Given the description of an element on the screen output the (x, y) to click on. 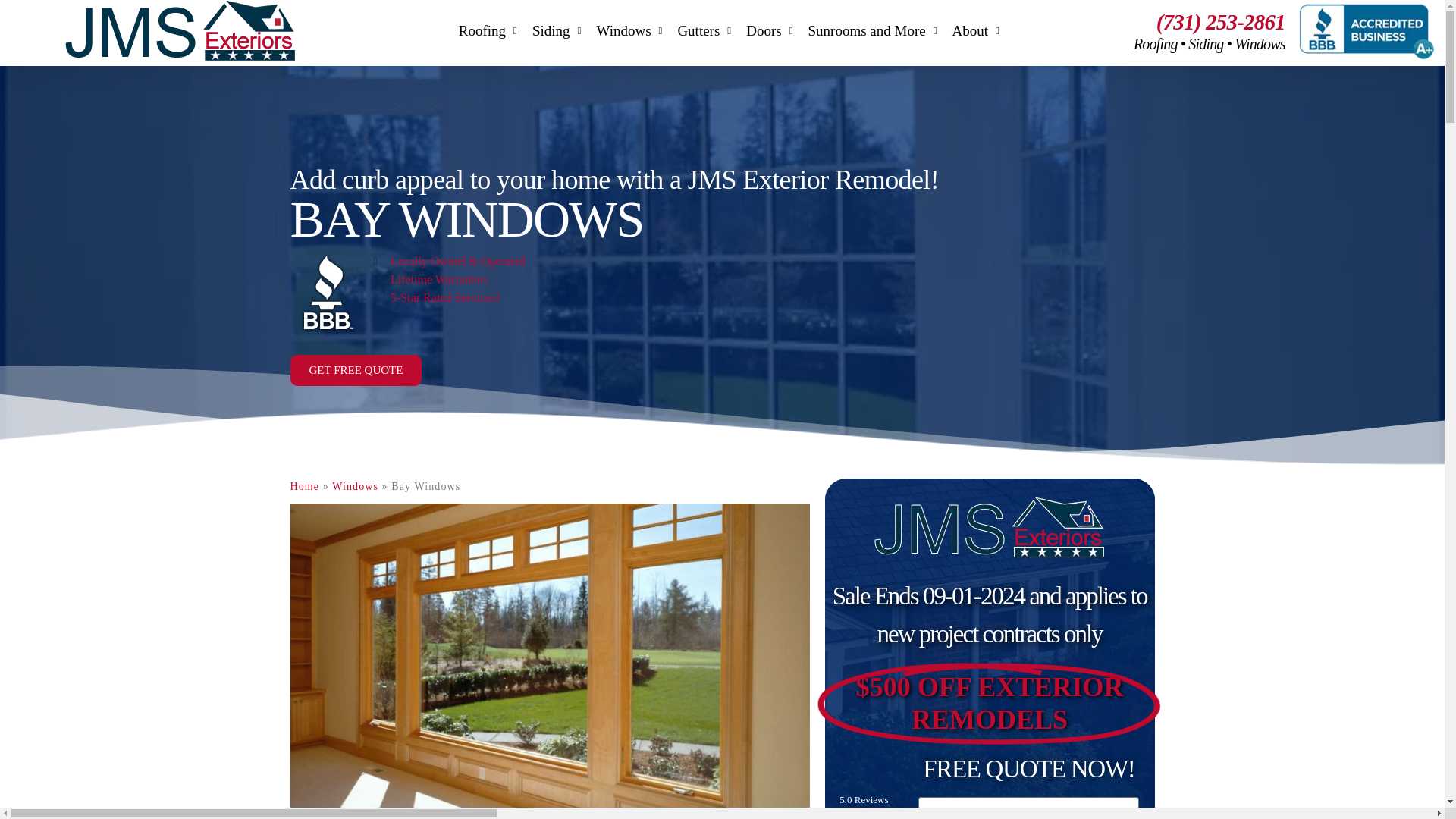
Gutters (703, 30)
Siding (556, 30)
Windows (628, 30)
Roofing (487, 30)
